Given the description of an element on the screen output the (x, y) to click on. 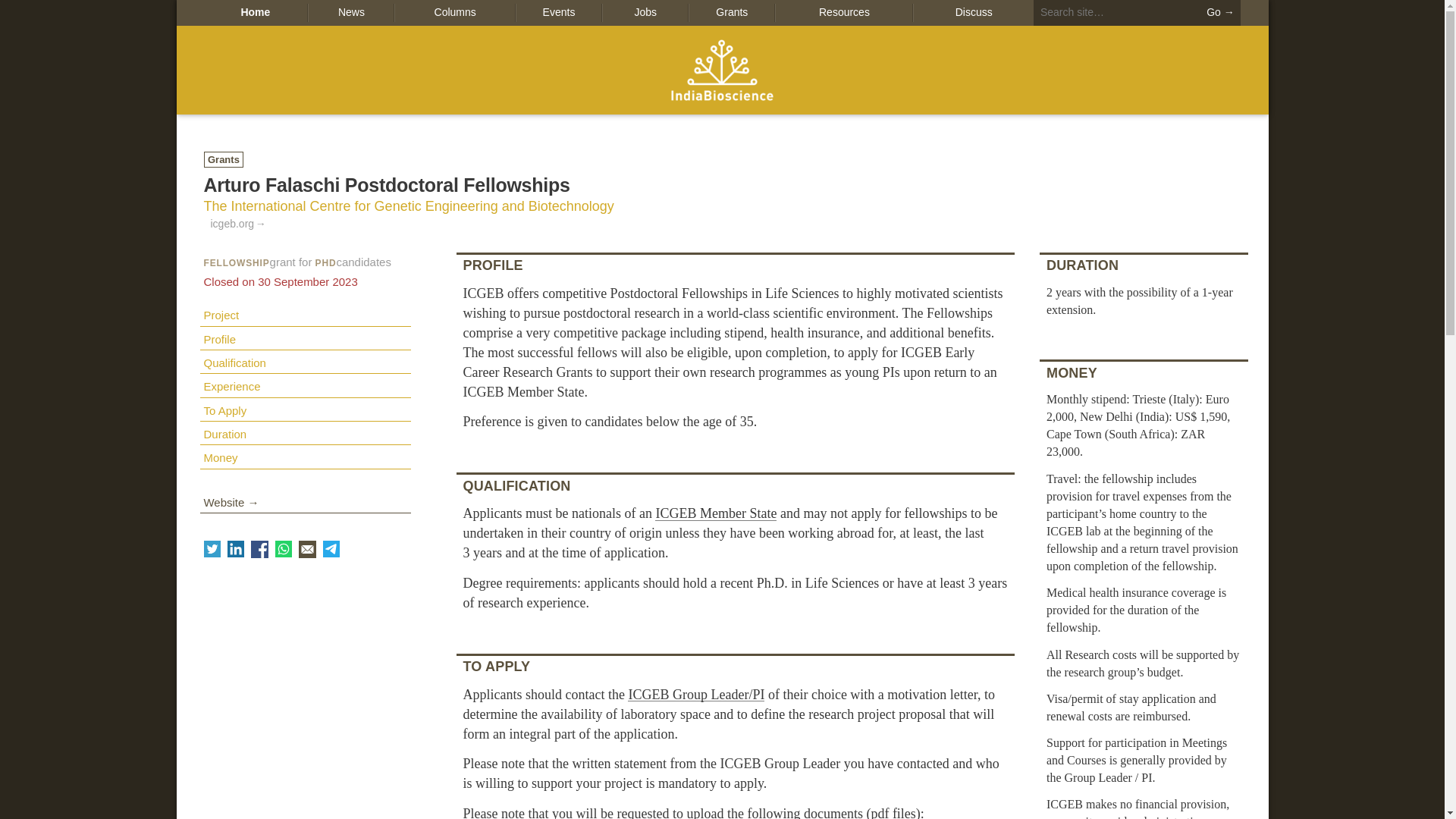
ICGEB Member State (715, 513)
Profile (305, 338)
Experience (305, 385)
PHD (325, 262)
Telegram (331, 548)
30 September 2023 (279, 281)
LinkedIn (235, 548)
Money (305, 456)
Discuss (972, 12)
Whatsapp (283, 548)
